Given the description of an element on the screen output the (x, y) to click on. 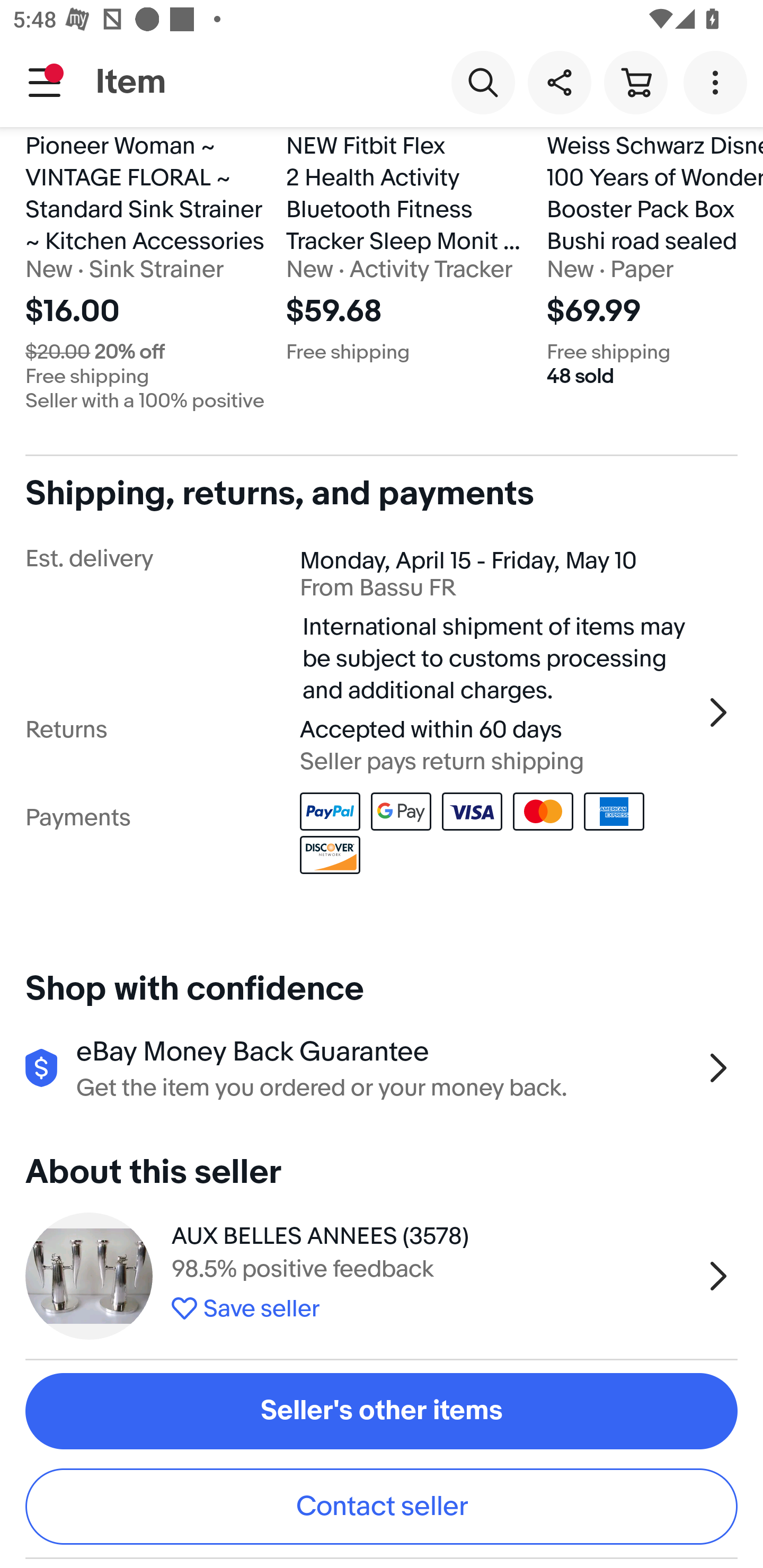
Main navigation, notification is pending, open (44, 82)
Search (482, 81)
Share this item (559, 81)
Cart button shopping cart (635, 81)
More options (718, 81)
Save seller (431, 1305)
Seller's other items (381, 1410)
Contact seller (381, 1505)
